Given the description of an element on the screen output the (x, y) to click on. 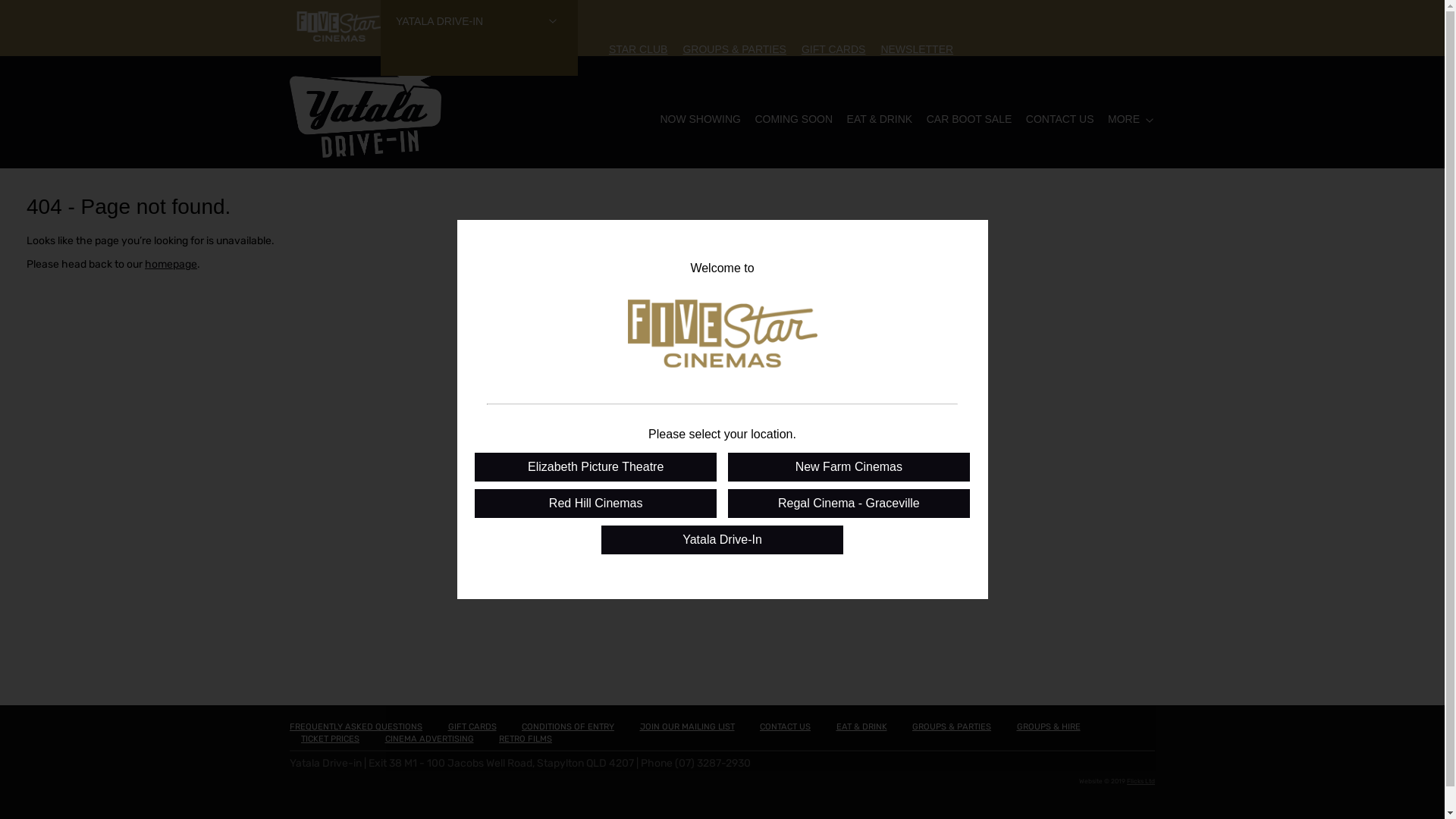
GROUPS & HIRE Element type: text (1047, 726)
GROUPS & PARTIES Element type: text (951, 726)
GIFT CARDS Element type: text (833, 49)
NOW SHOWING Element type: text (699, 118)
GIFT CARDS Element type: text (471, 726)
Regal Cinema - Graceville Element type: text (848, 502)
Flicks Ltd Element type: text (1140, 780)
Elizabeth Picture Theatre Element type: text (595, 465)
CINEMA ADVERTISING Element type: text (429, 738)
New Farm Cinemas Element type: text (848, 465)
NEWSLETTER Element type: text (916, 49)
CONDITIONS OF ENTRY Element type: text (567, 726)
EAT & DRINK Element type: text (880, 118)
Yatala Drive-In Element type: text (722, 538)
CONTACT US Element type: text (784, 726)
homepage Element type: text (170, 263)
Red Hill Cinemas Element type: text (595, 502)
EAT & DRINK Element type: text (860, 726)
GROUPS & PARTIES Element type: text (733, 49)
COMING SOON Element type: text (793, 118)
TICKET PRICES Element type: text (330, 738)
FREQUENTLY ASKED QUESTIONS Element type: text (355, 726)
RETRO FILMS Element type: text (525, 738)
CAR BOOT SALE Element type: text (969, 118)
JOIN OUR MAILING LIST Element type: text (687, 726)
STAR CLUB Element type: text (638, 49)
YATALA DRIVE-IN Element type: text (478, 37)
MORE Element type: text (1123, 118)
CONTACT US Element type: text (1060, 118)
